Given the description of an element on the screen output the (x, y) to click on. 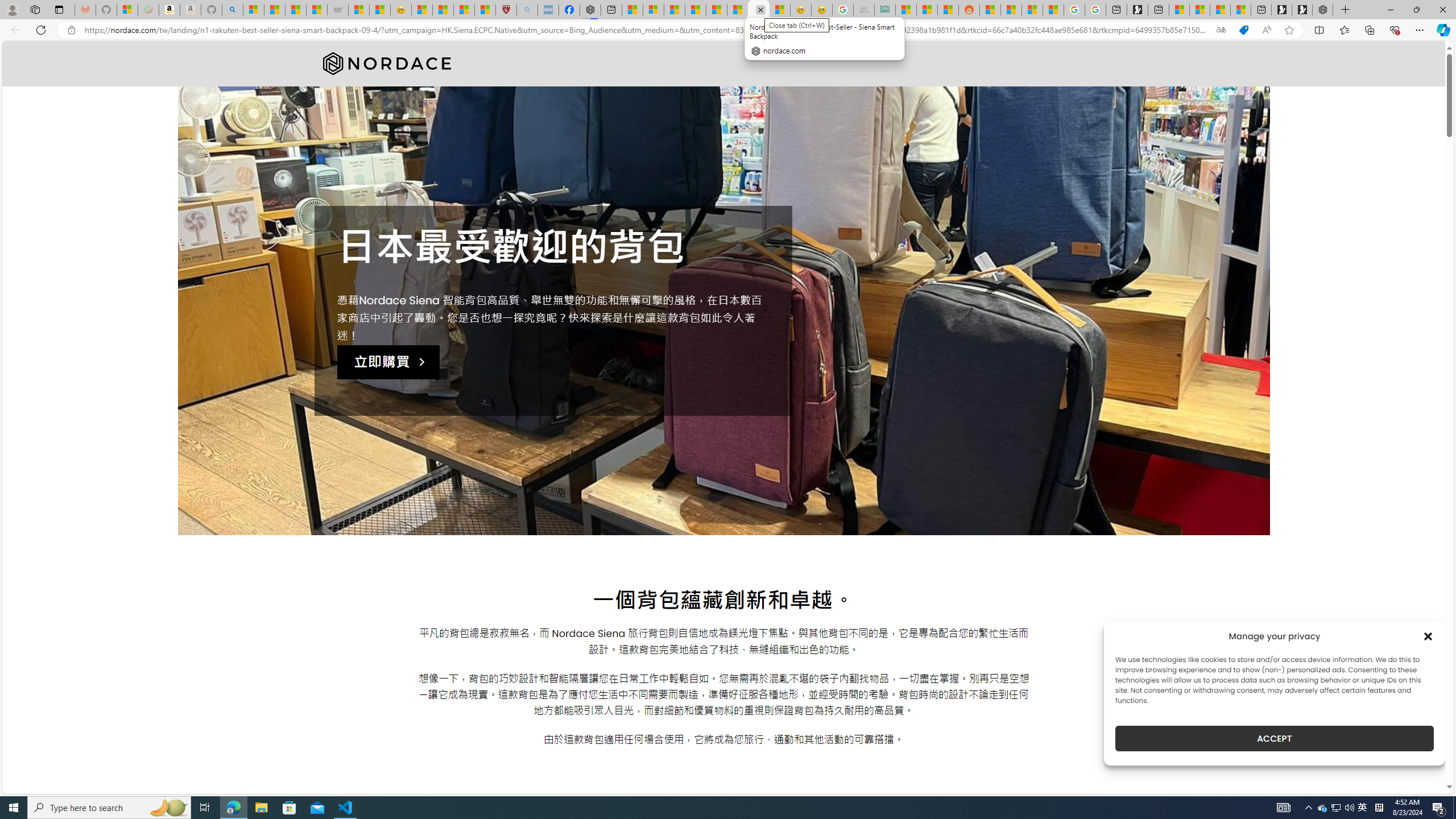
Class: cmplz-close (1428, 636)
Refresh (40, 29)
New tab (1261, 9)
Microsoft account | Privacy (652, 9)
Address and search bar (647, 29)
Favorites (1344, 29)
14 Common Myths Debunked By Scientific Facts (716, 9)
Show translate options (1220, 29)
Copilot (Ctrl+Shift+.) (1442, 29)
